Given the description of an element on the screen output the (x, y) to click on. 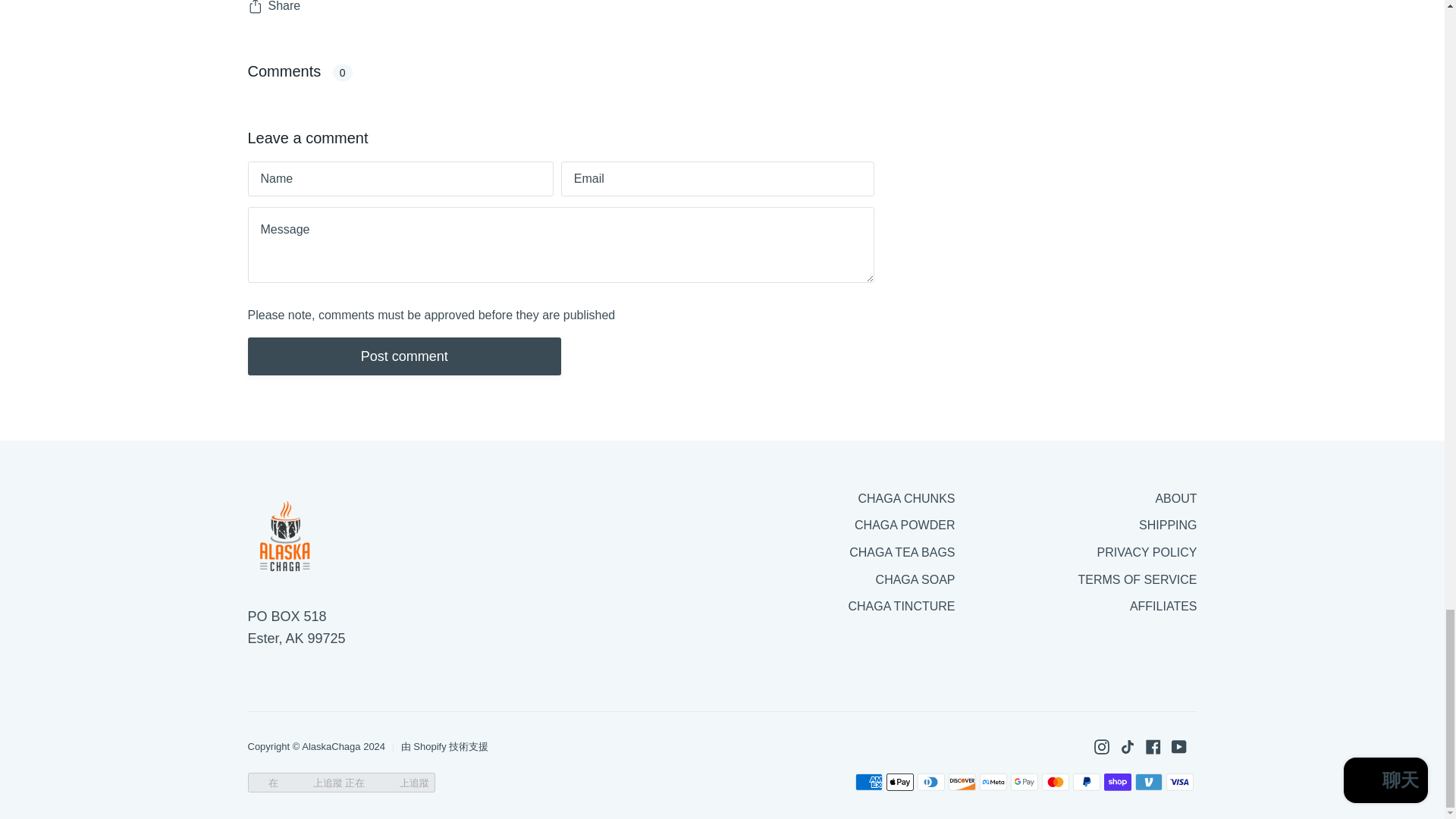
Post comment (403, 356)
AlaskaChaga on TikTok (1126, 746)
AlaskaChaga on Facebook (1152, 746)
AlaskaChaga on Instagram (1100, 746)
AlaskaChaga on YouTube (1178, 746)
